Given the description of an element on the screen output the (x, y) to click on. 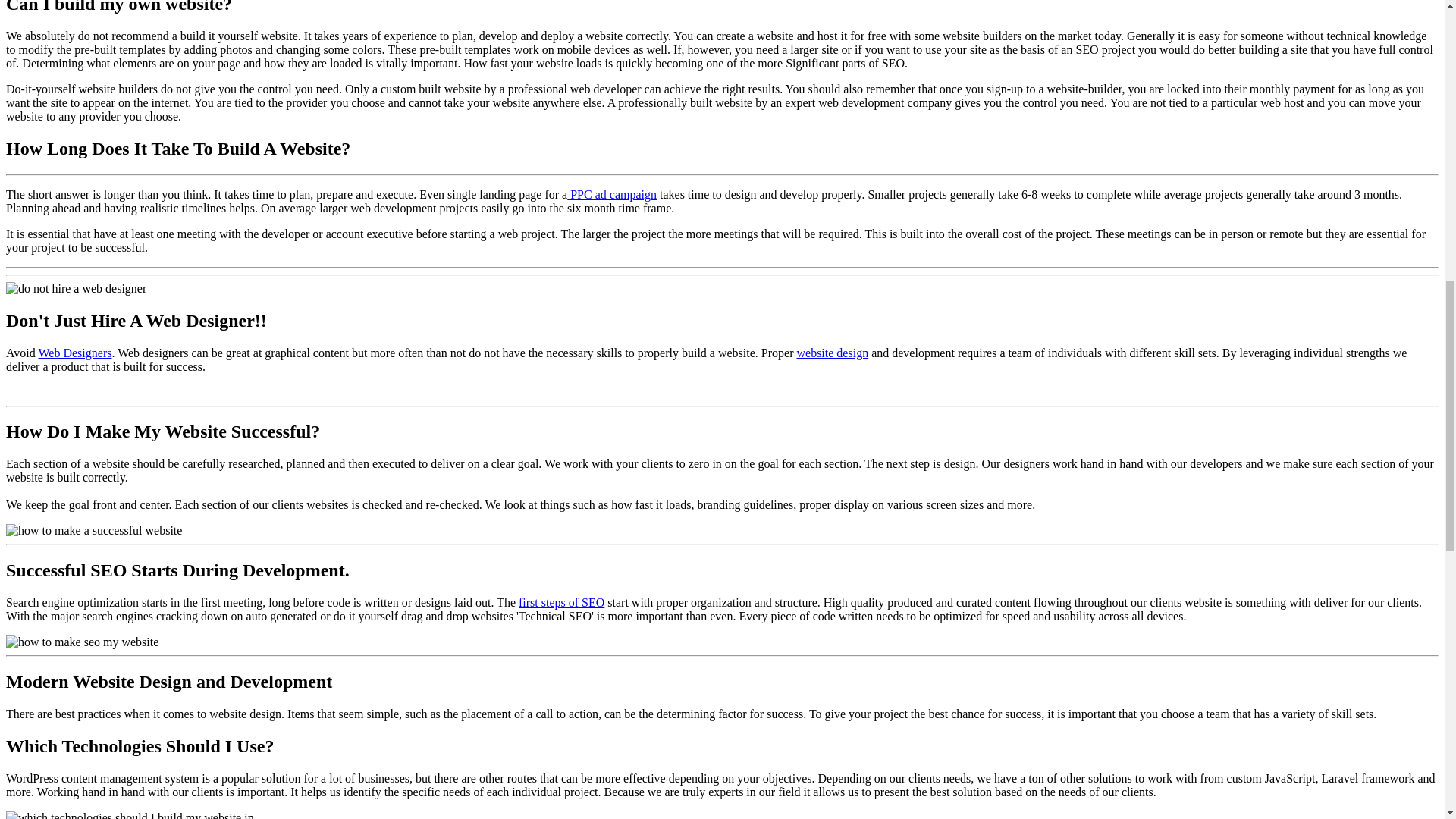
Web Designers (75, 352)
website design (831, 352)
first steps of SEO (561, 602)
PPC ad campaign (611, 194)
